Given the description of an element on the screen output the (x, y) to click on. 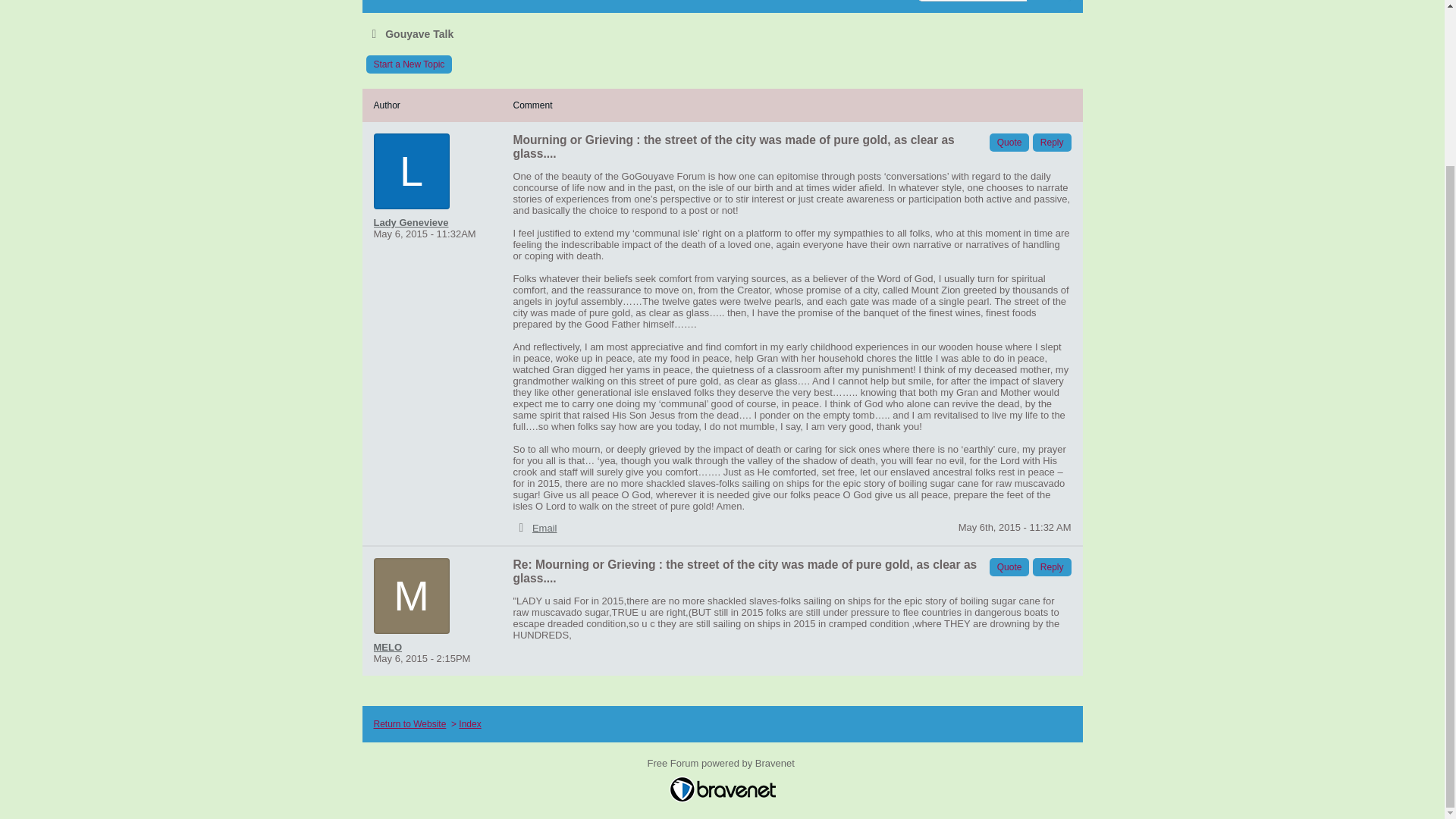
Email (544, 527)
Free Forum powered by Bravenet  (722, 766)
search (1048, 0)
Messages from this User (410, 222)
MELO (421, 646)
Quote (1009, 566)
Reply (1051, 142)
Index (469, 724)
Lady Genevieve (421, 222)
Messages from this User (386, 646)
